Given the description of an element on the screen output the (x, y) to click on. 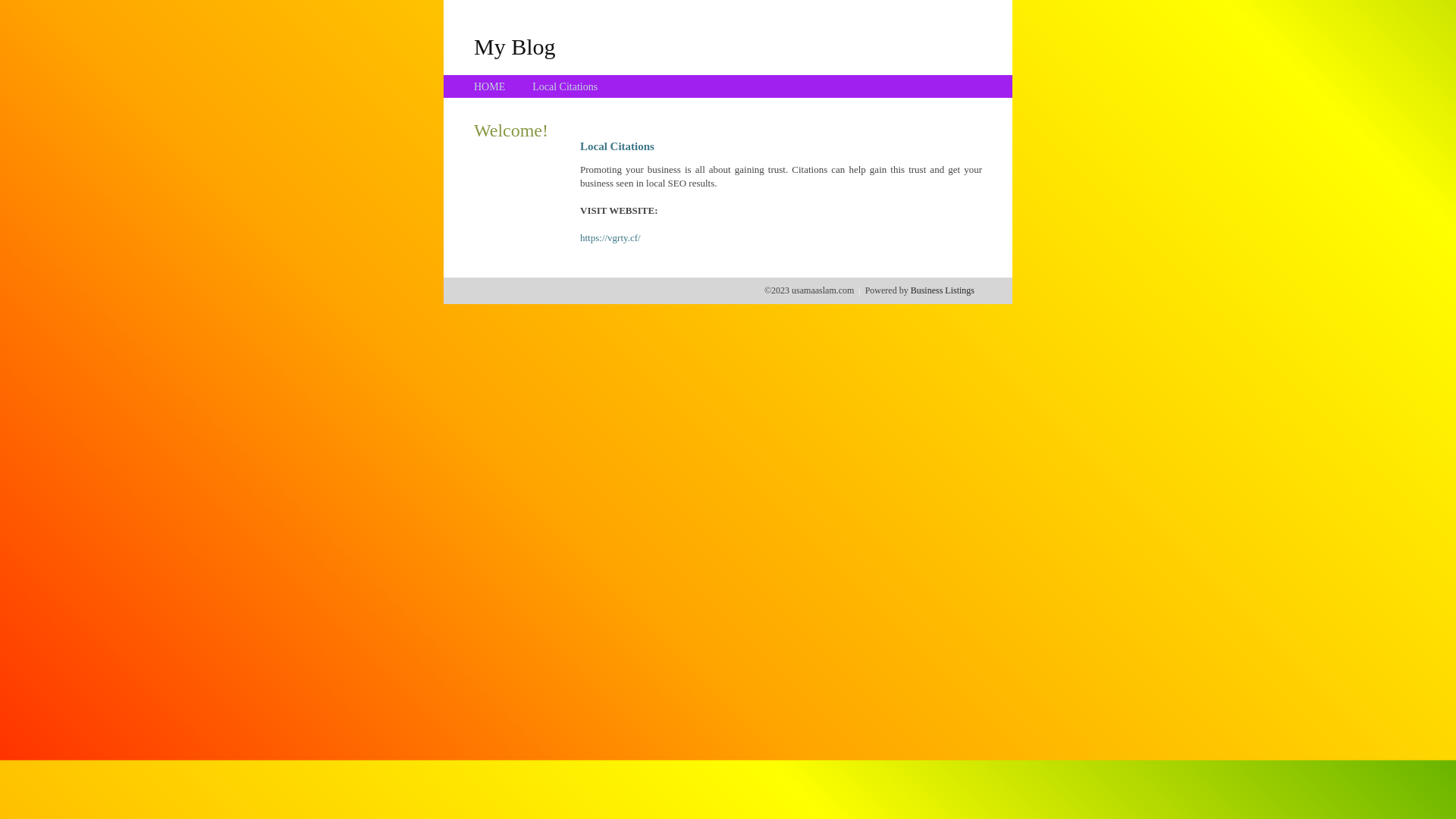
https://vgrty.cf/ Element type: text (610, 237)
Business Listings Element type: text (942, 290)
HOME Element type: text (489, 86)
My Blog Element type: text (514, 46)
Local Citations Element type: text (564, 86)
